Given the description of an element on the screen output the (x, y) to click on. 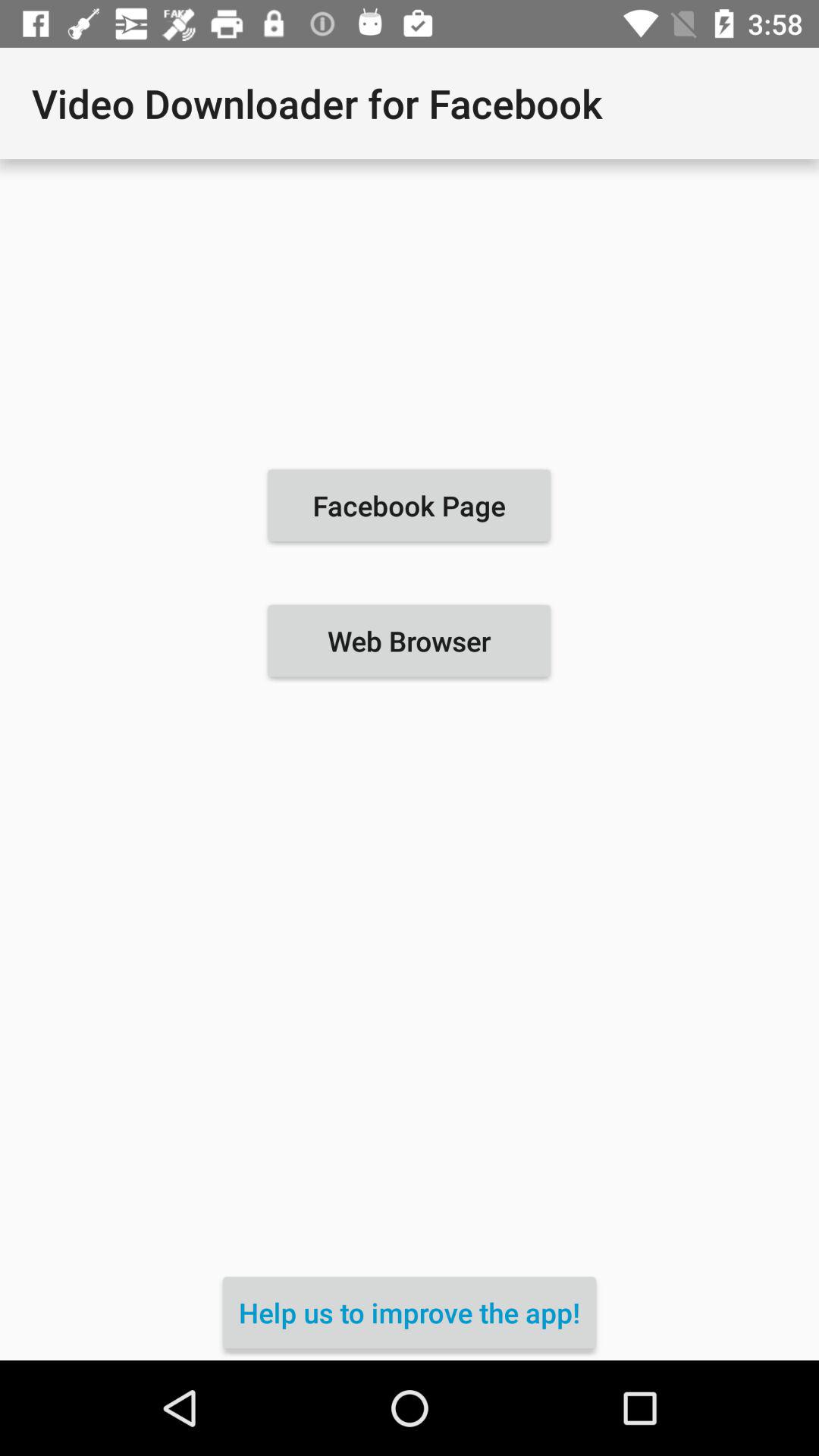
select icon above help us to icon (408, 640)
